Given the description of an element on the screen output the (x, y) to click on. 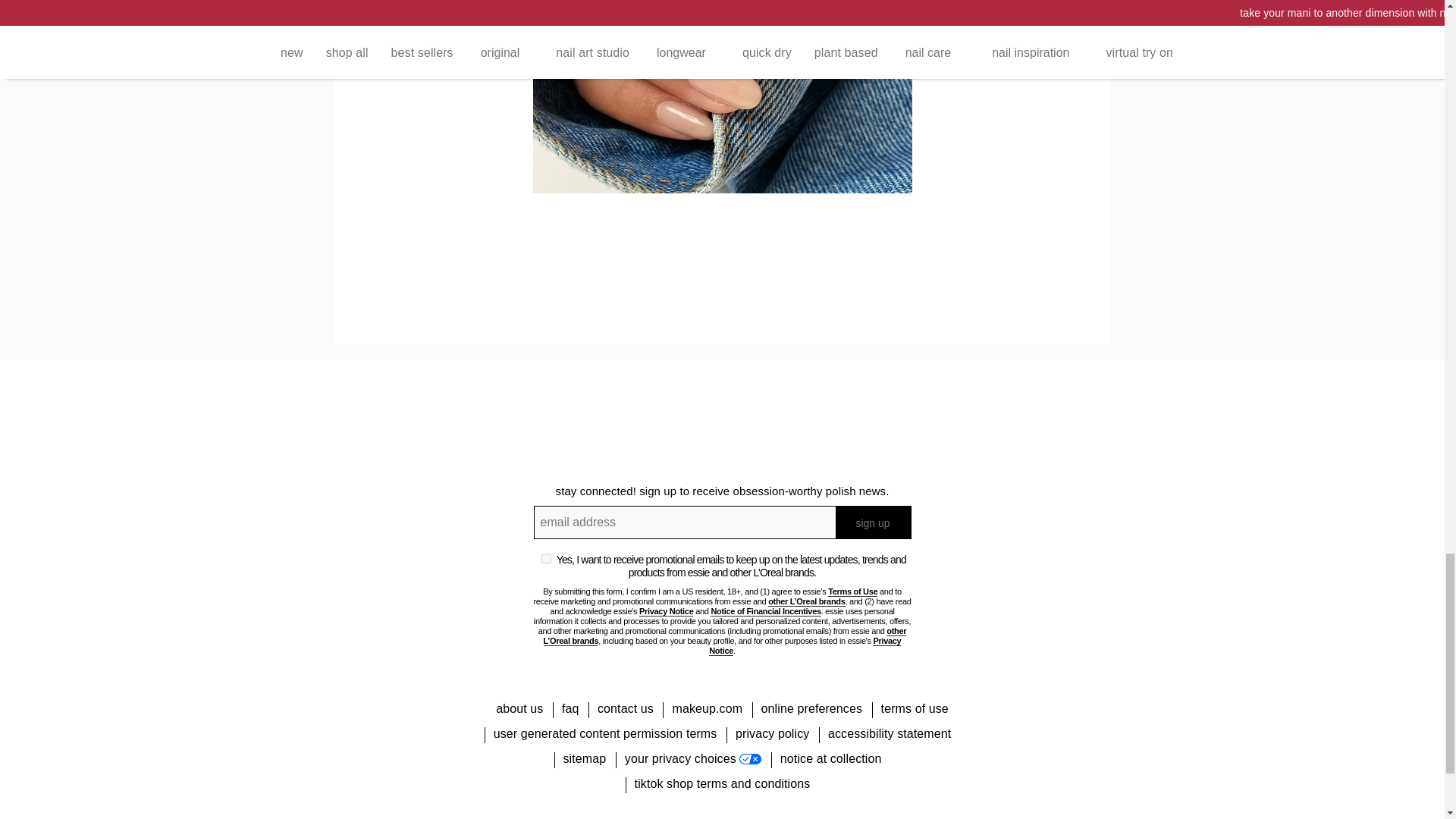
on (546, 558)
